Given the description of an element on the screen output the (x, y) to click on. 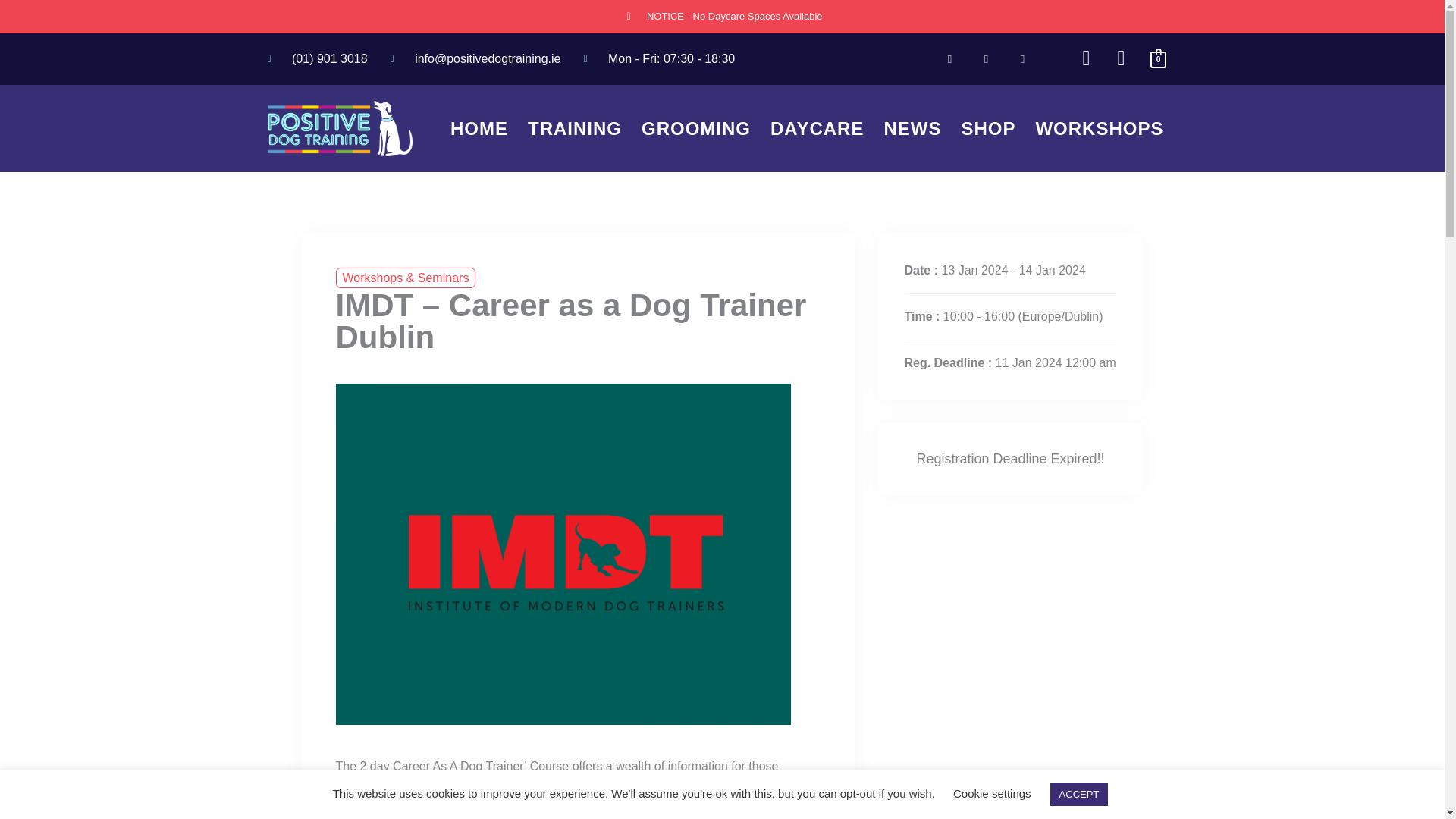
NEWS (912, 128)
HOME (478, 128)
WORKSHOPS (1099, 128)
TRAINING (573, 128)
Facebook-f (949, 58)
SHOP (988, 128)
Instagram (1022, 58)
0 (1158, 59)
GROOMING (695, 128)
DAYCARE (817, 128)
Twitter (986, 58)
